Given the description of an element on the screen output the (x, y) to click on. 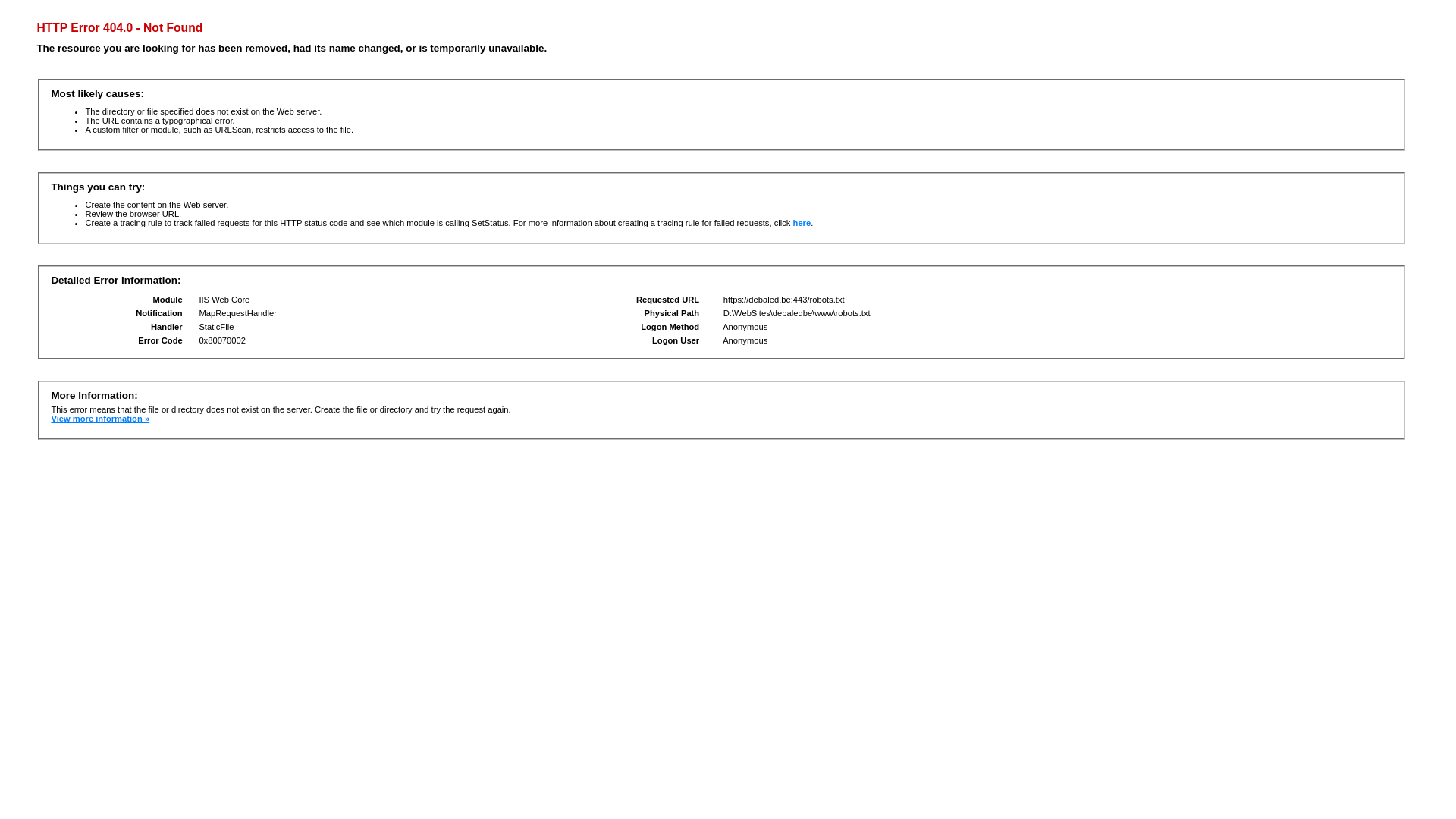
here Element type: text (802, 222)
